Given the description of an element on the screen output the (x, y) to click on. 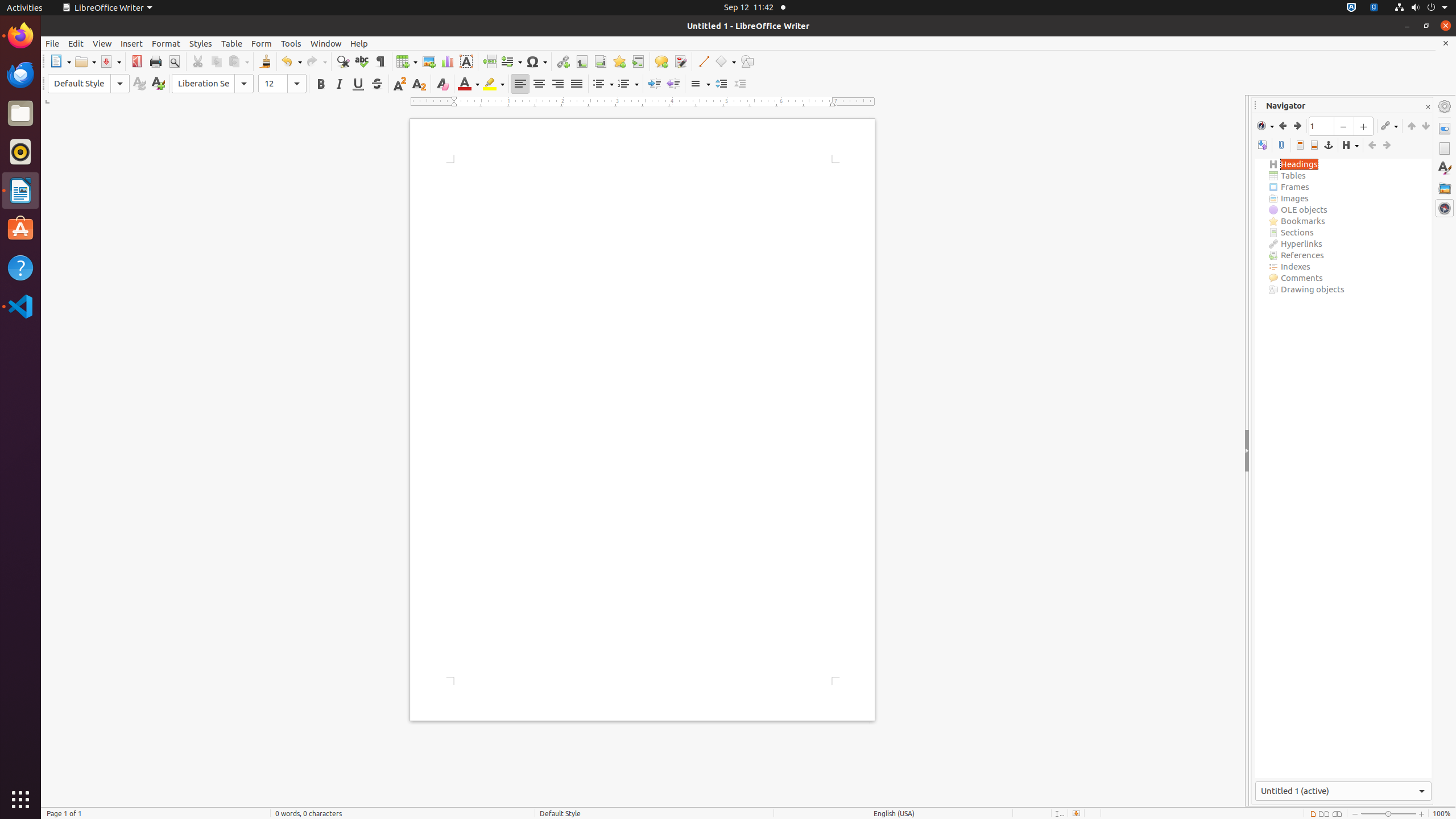
New Element type: push-button (157, 83)
Help Element type: menu (358, 43)
Superscript Element type: toggle-button (399, 83)
Tools Element type: menu (290, 43)
Left Element type: toggle-button (519, 83)
